Given the description of an element on the screen output the (x, y) to click on. 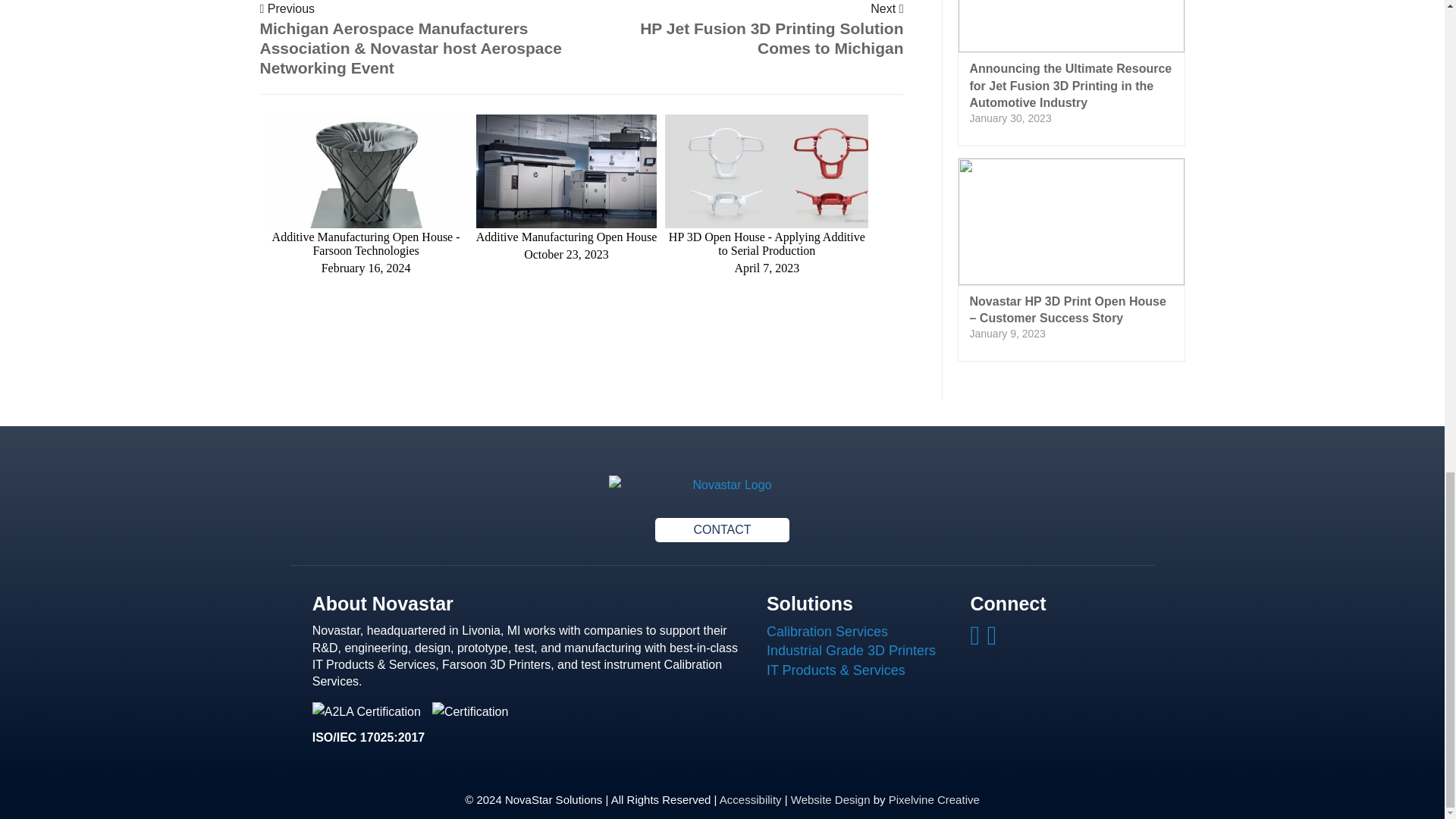
Michigan Website Designer (933, 799)
Michigan Web Design (830, 799)
Novastar on LinkedIn (977, 640)
Novastar YouTube Channel (994, 640)
